Given the description of an element on the screen output the (x, y) to click on. 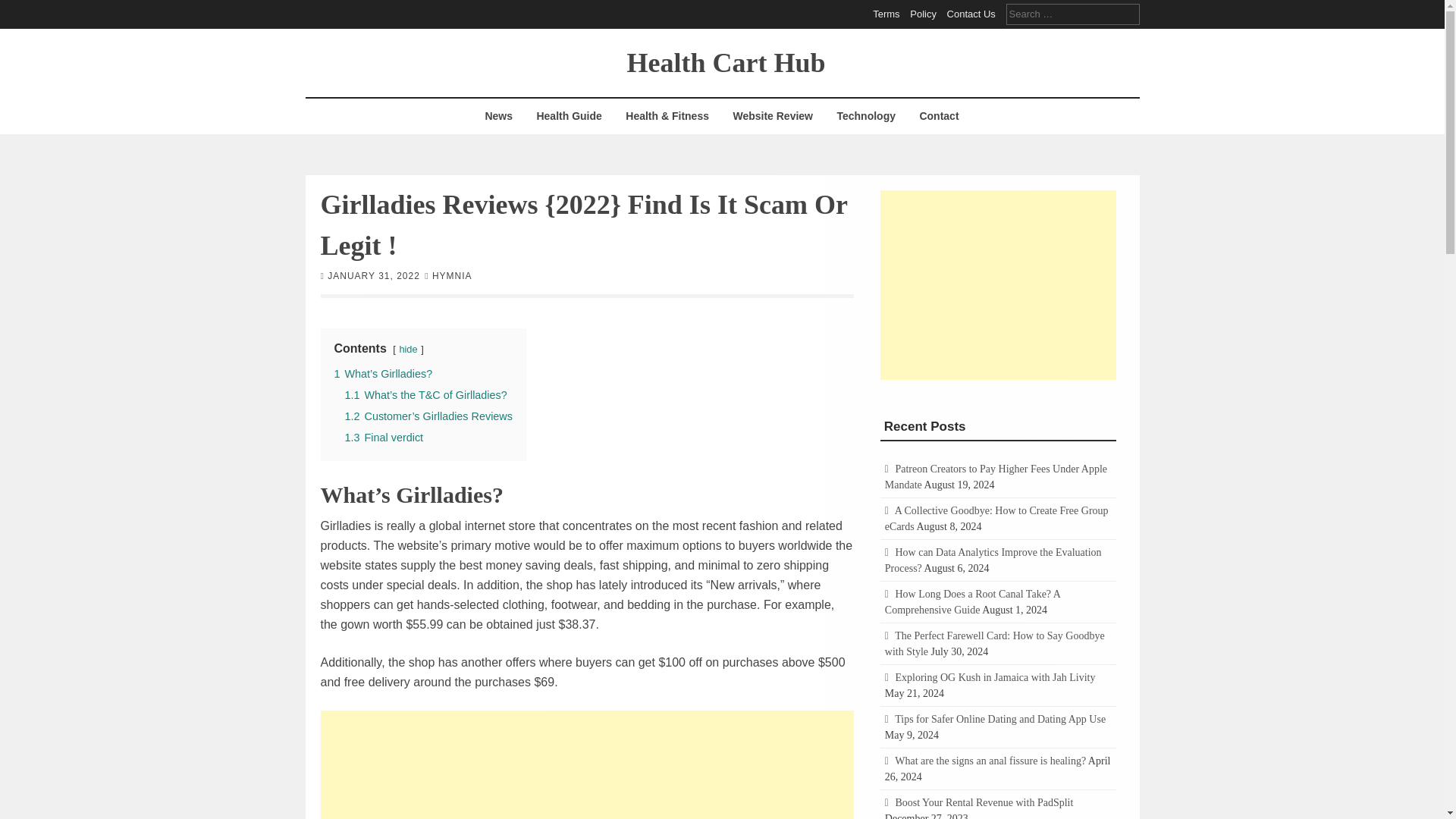
hide (407, 348)
JANUARY 31, 2022 (373, 275)
A Collective Goodbye: How to Create Free Group eCards (996, 518)
HYMNIA (451, 275)
Patreon Creators to Pay Higher Fees Under Apple Mandate (995, 476)
Advertisement (586, 764)
What are the signs an anal fissure is healing? (990, 760)
The Perfect Farewell Card: How to Say Goodbye with Style (995, 643)
Health Cart Hub (725, 61)
How Long Does a Root Canal Take? A Comprehensive Guide (972, 601)
